Given the description of an element on the screen output the (x, y) to click on. 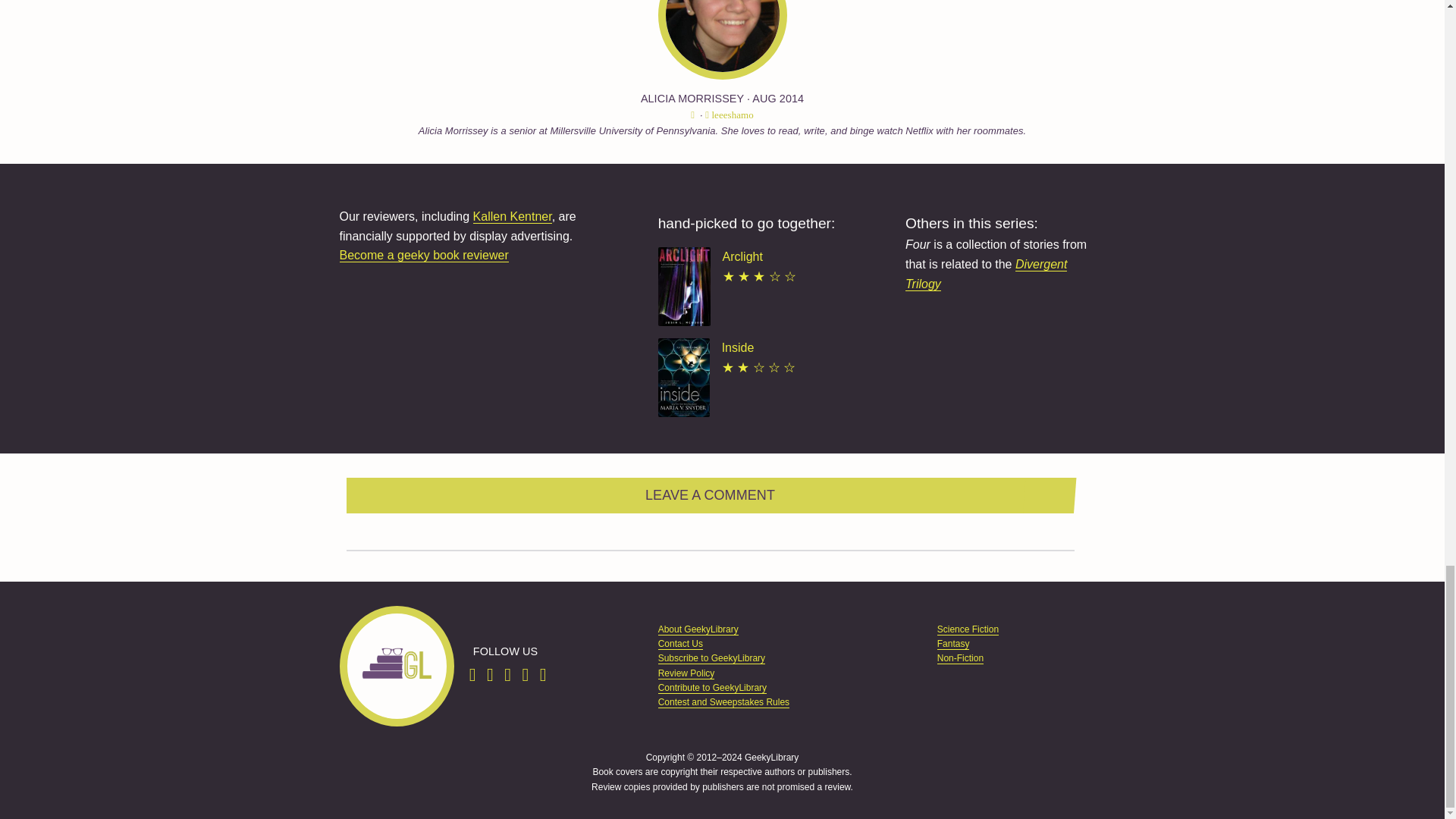
Thu, 28 Aug 2014 08:35:31 -0700 (777, 98)
Kallen Kentner (512, 216)
Divergent Trilogy (986, 274)
Become a geeky book reviewer (423, 255)
leeeshamo (728, 115)
